Given the description of an element on the screen output the (x, y) to click on. 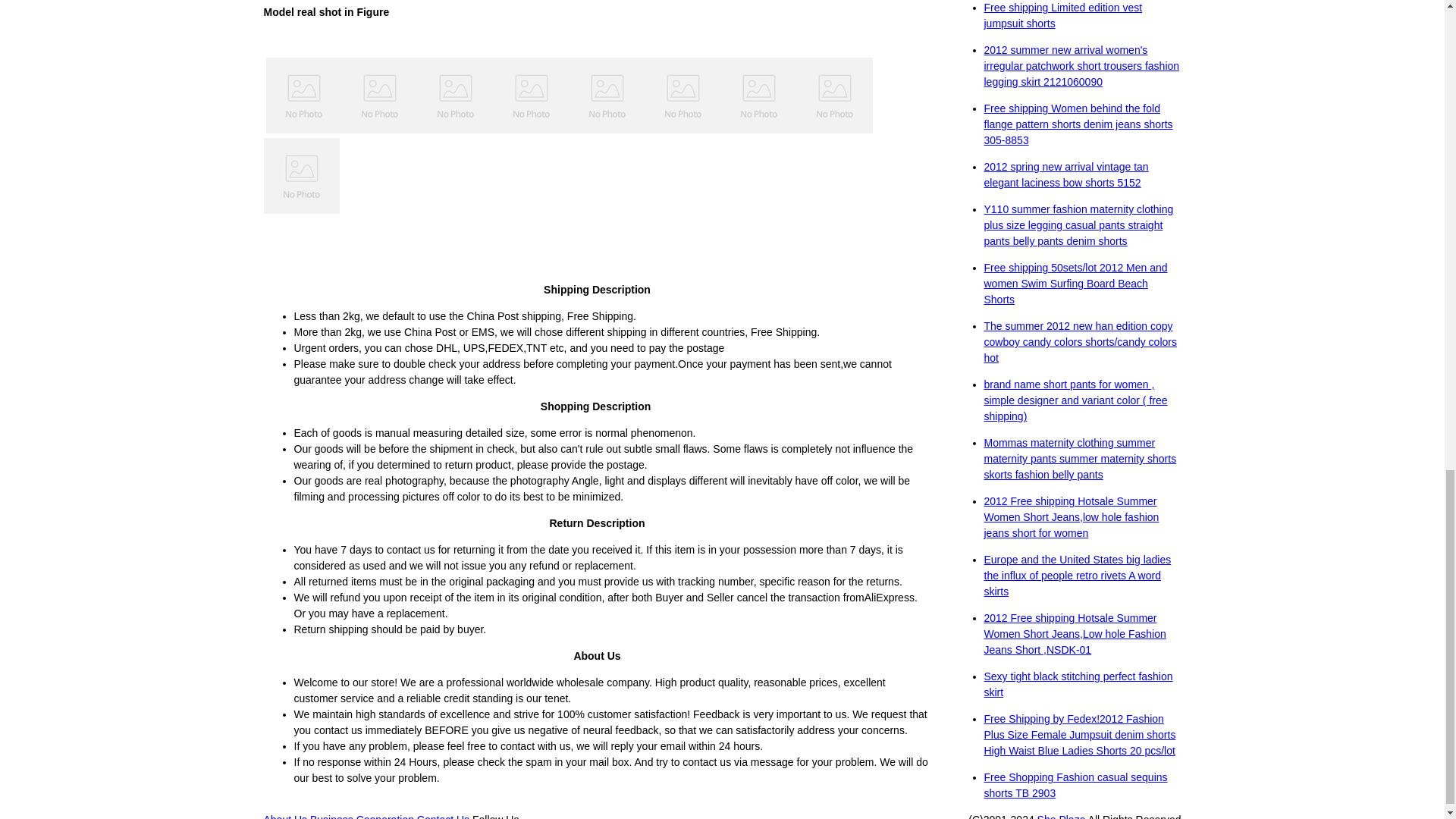
Free shipping Limited edition vest jumpsuit shorts (1063, 15)
Free Shopping Fashion casual sequins shorts TB 2903 (1075, 785)
Sexy tight black stitching perfect fashion skirt (1078, 684)
